Given the description of an element on the screen output the (x, y) to click on. 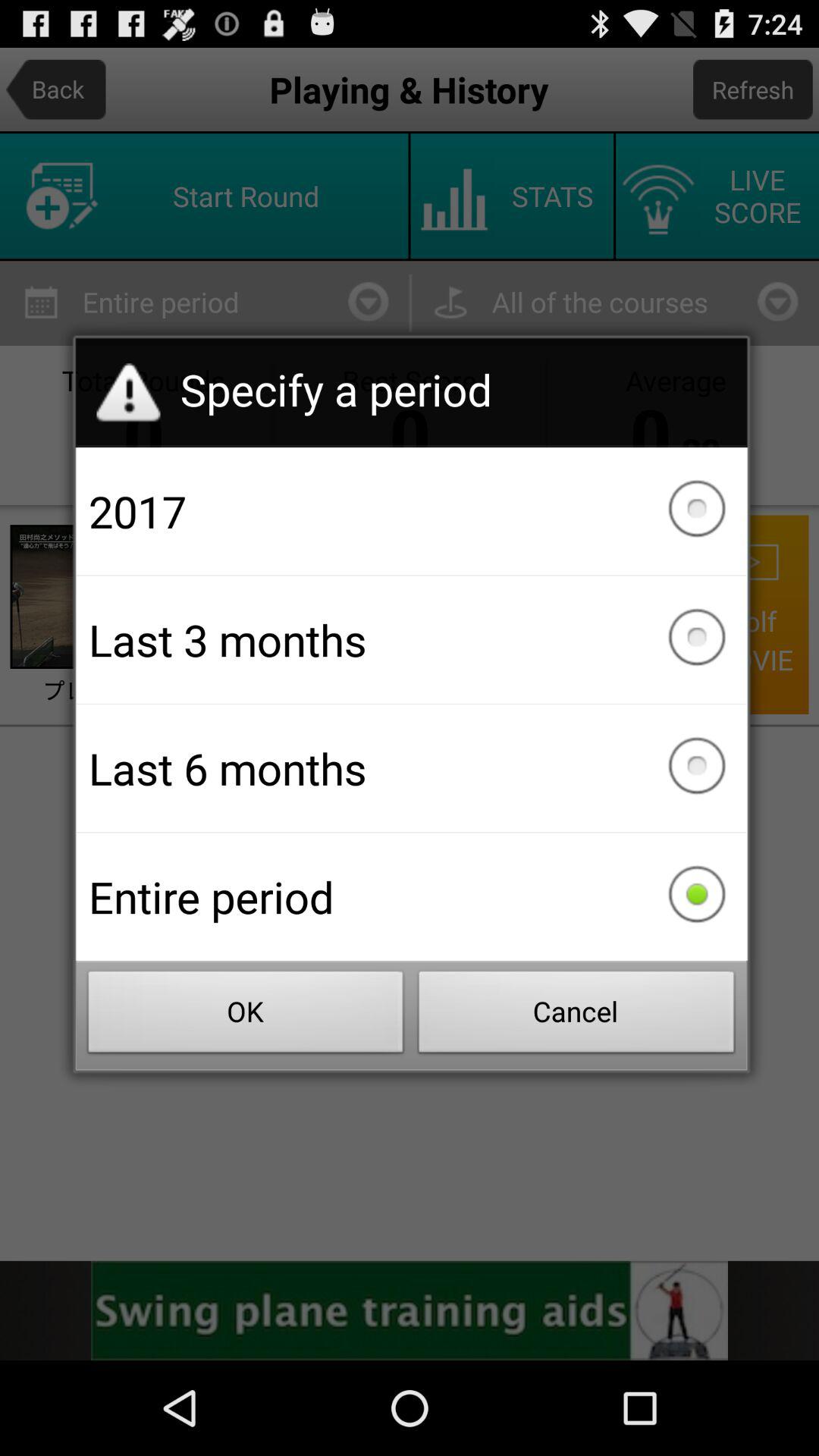
select the button next to the ok icon (576, 1016)
